Given the description of an element on the screen output the (x, y) to click on. 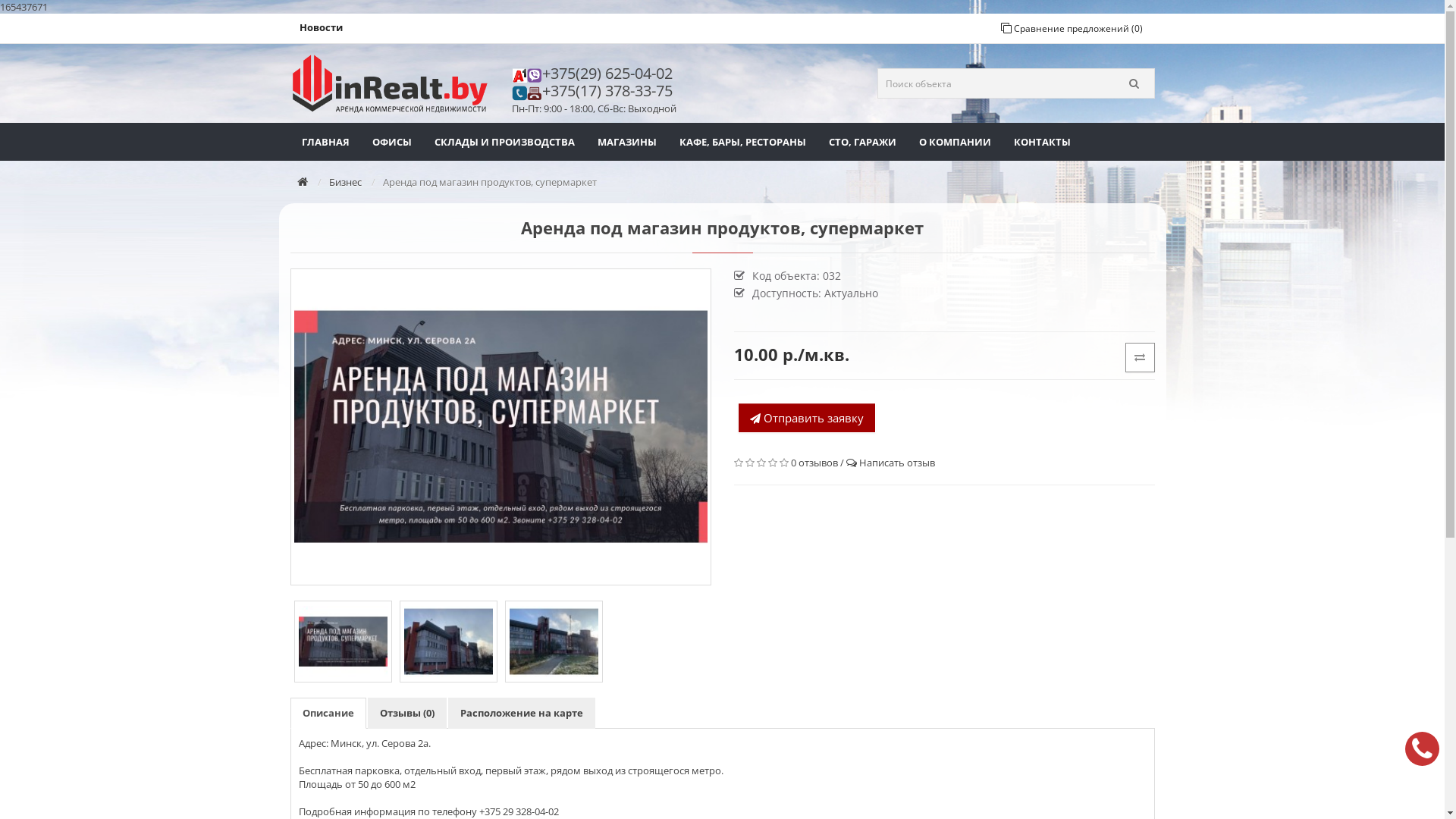
+375(29) 625-04-02 Element type: text (611, 72)
+375(17) 378-33-75 Element type: text (611, 90)
